Given the description of an element on the screen output the (x, y) to click on. 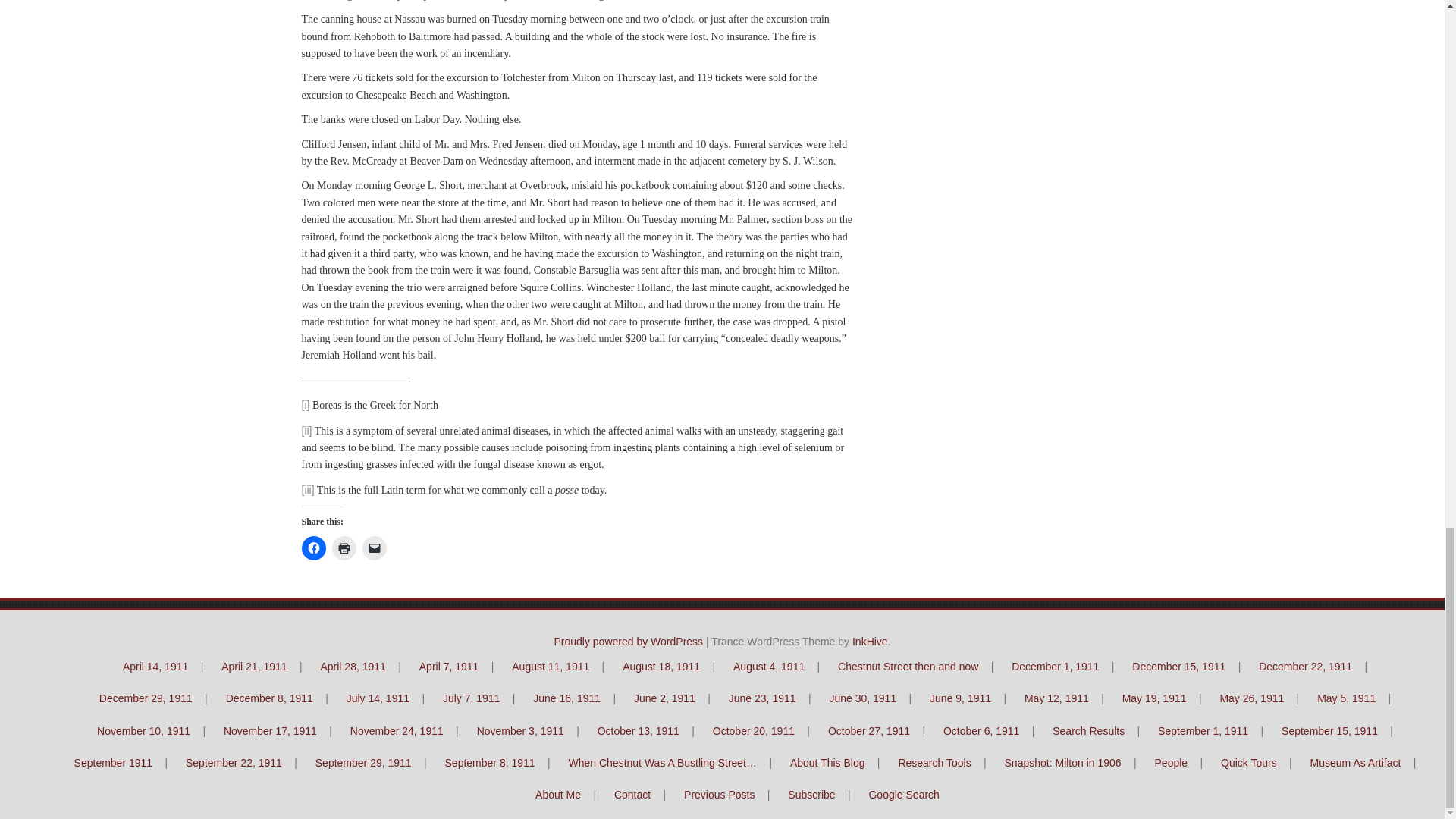
Click to share on Facebook (313, 548)
Click to email a link to a friend (374, 548)
Click to print (343, 548)
